Given the description of an element on the screen output the (x, y) to click on. 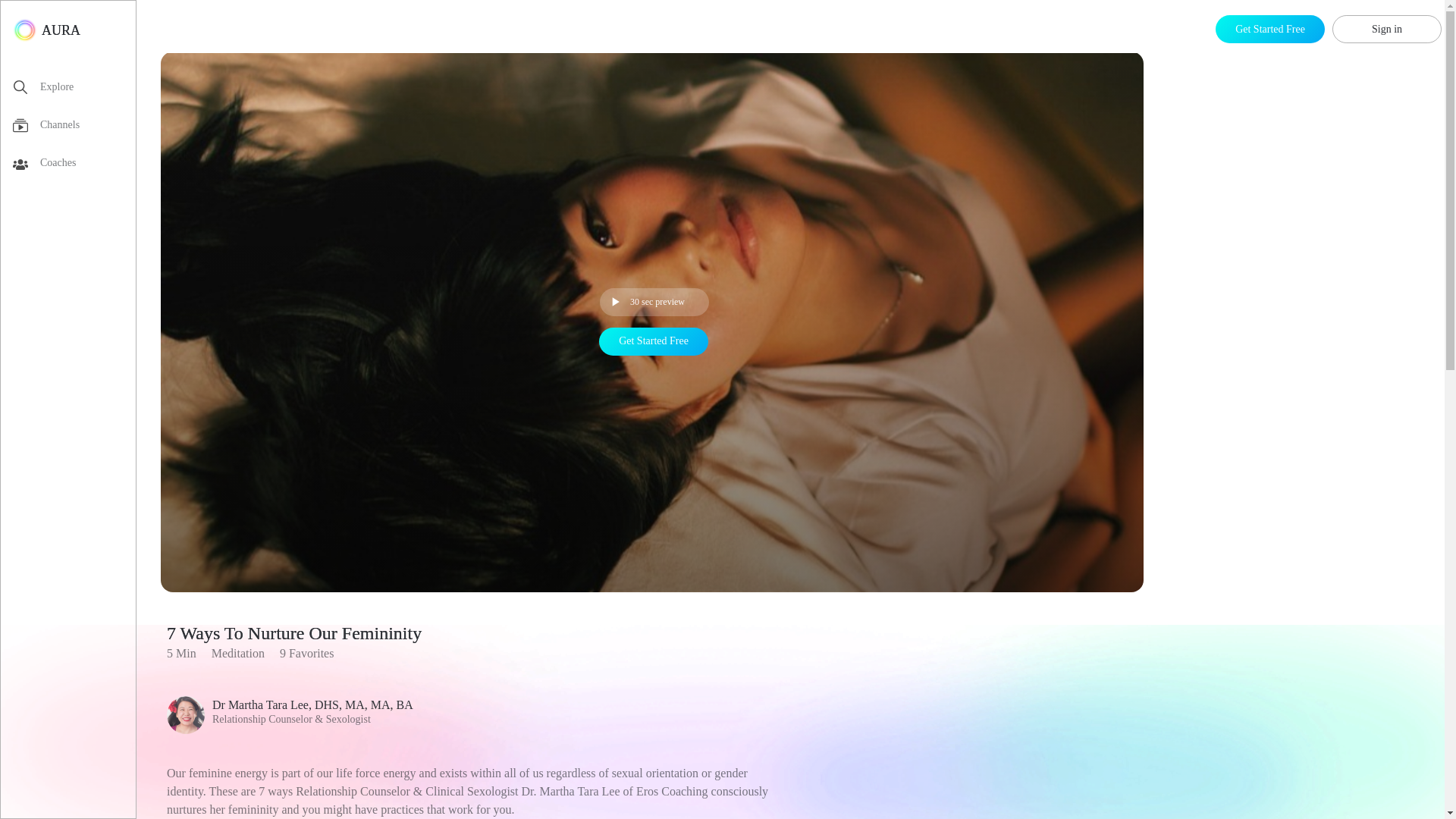
Coaches (74, 166)
AURA (46, 29)
Explore (74, 89)
Channels (74, 127)
